Given the description of an element on the screen output the (x, y) to click on. 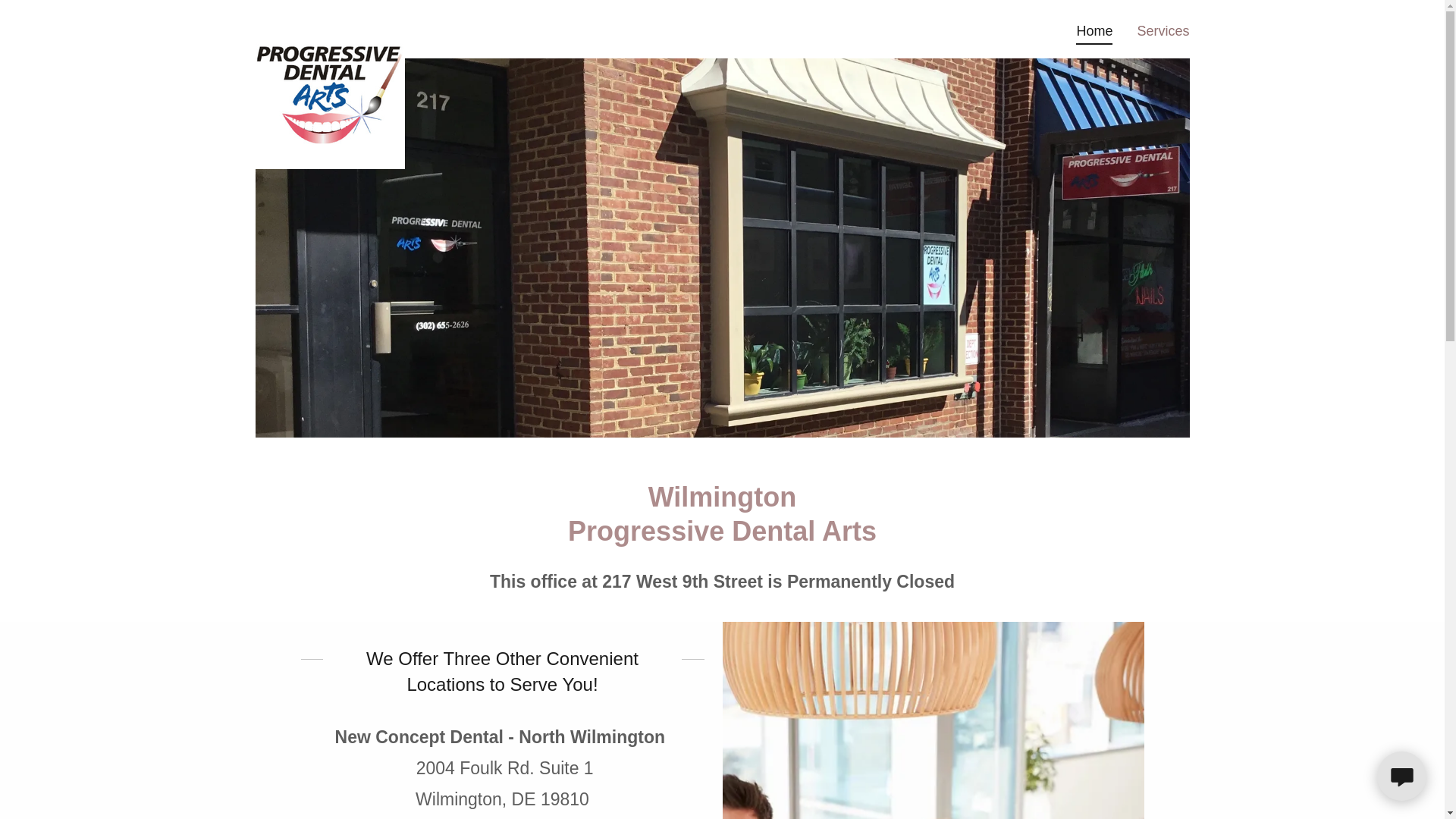
Services (1162, 30)
Wilmington Progressive Dental Arts (329, 26)
Home (1093, 33)
